Given the description of an element on the screen output the (x, y) to click on. 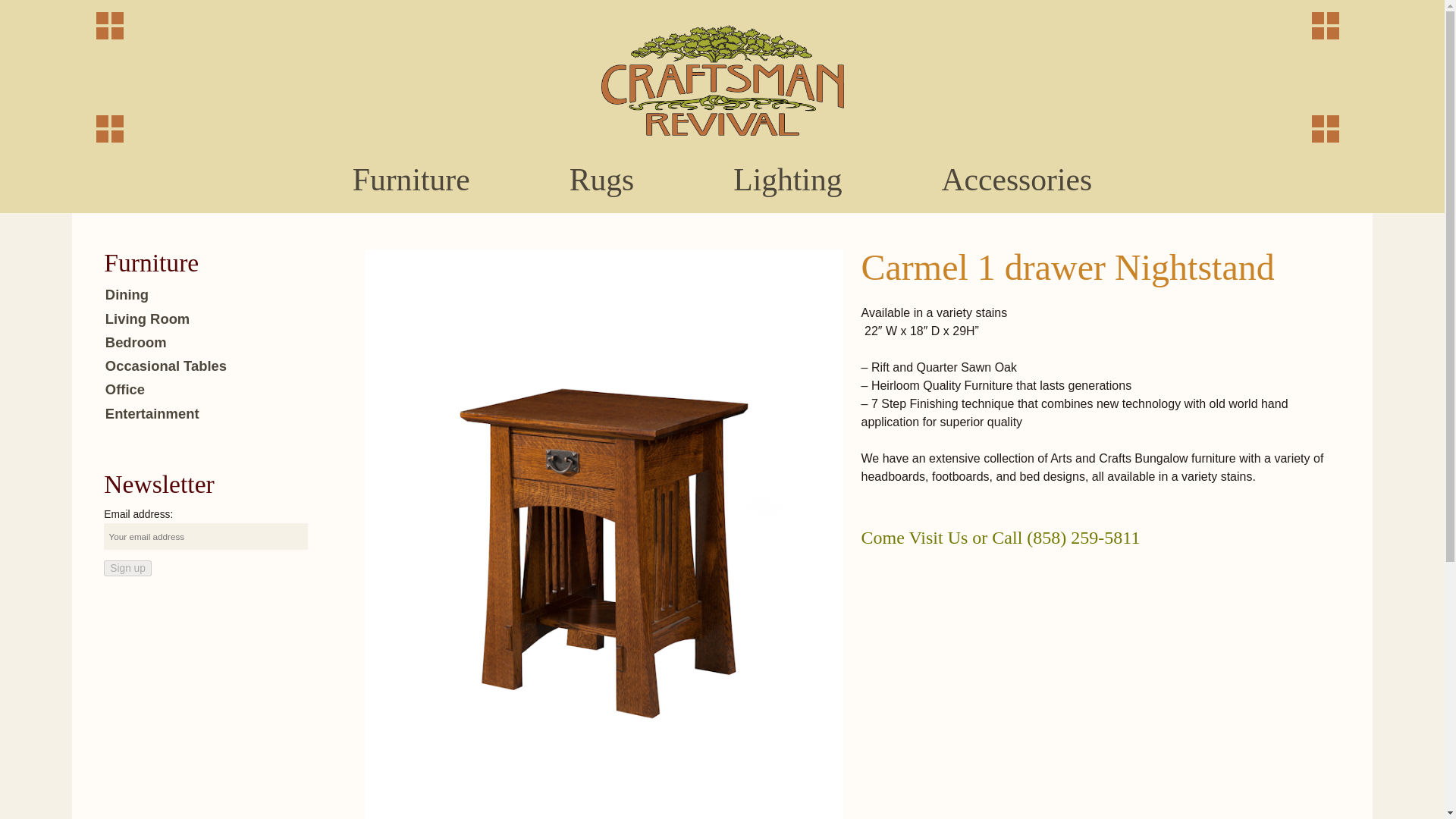
Bedroom (135, 342)
Furniture (410, 179)
Rugs (600, 179)
Accessories (1016, 179)
Entertainment (151, 413)
Sign up (127, 568)
Living Room (146, 318)
Office (124, 389)
Occasional Tables (165, 365)
Sign up (127, 568)
